Given the description of an element on the screen output the (x, y) to click on. 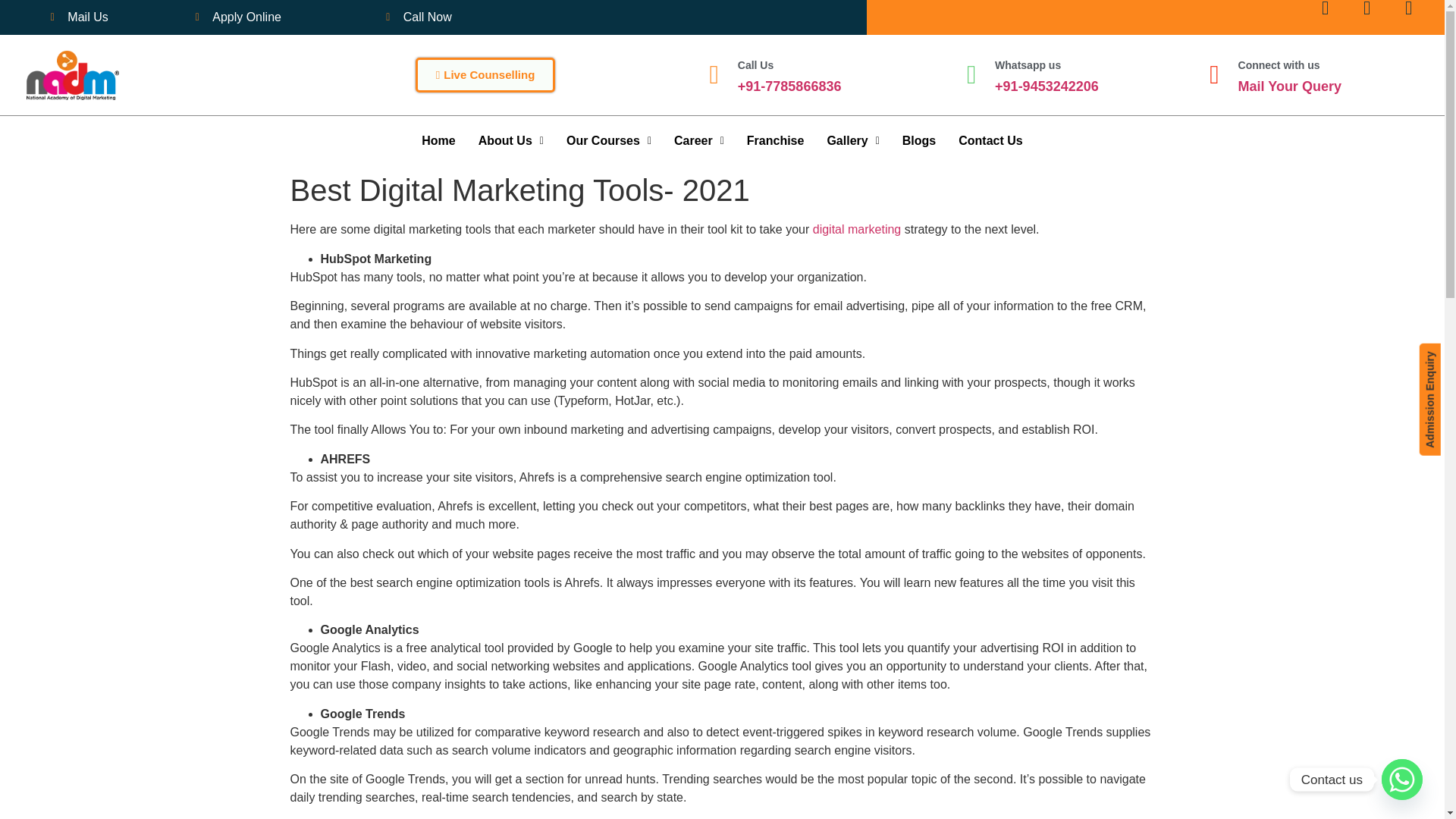
Mail Your Query (1289, 86)
Career (698, 140)
Apply Online (238, 17)
Contact Us (990, 140)
Live Counselling (485, 74)
Call Now (418, 17)
About Us (510, 140)
Blogs (919, 140)
Home (437, 140)
Mail Us (78, 17)
Our Courses (608, 140)
Gallery (852, 140)
Franchise (775, 140)
